Given the description of an element on the screen output the (x, y) to click on. 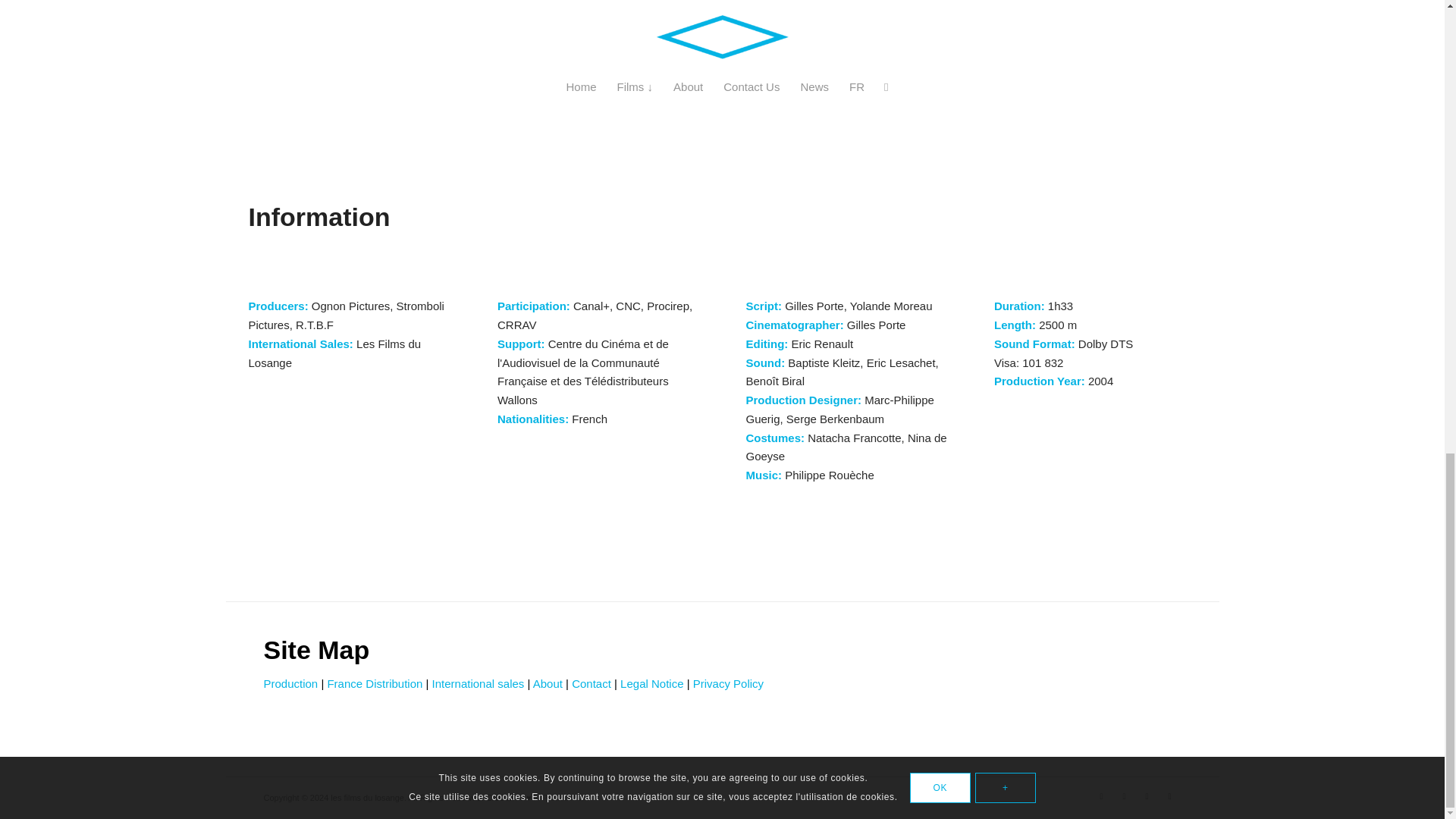
photo-0-quand-la-mer-monte-260x185.jpg (390, 28)
Privacy Policy (727, 683)
About (547, 683)
Production (290, 683)
Profictions (561, 797)
International sales (478, 683)
Contact (591, 683)
Legal Notice (651, 683)
photo-1-quand-la-mer-monte-260x185.jpg (722, 28)
France Distribution (374, 683)
